Given the description of an element on the screen output the (x, y) to click on. 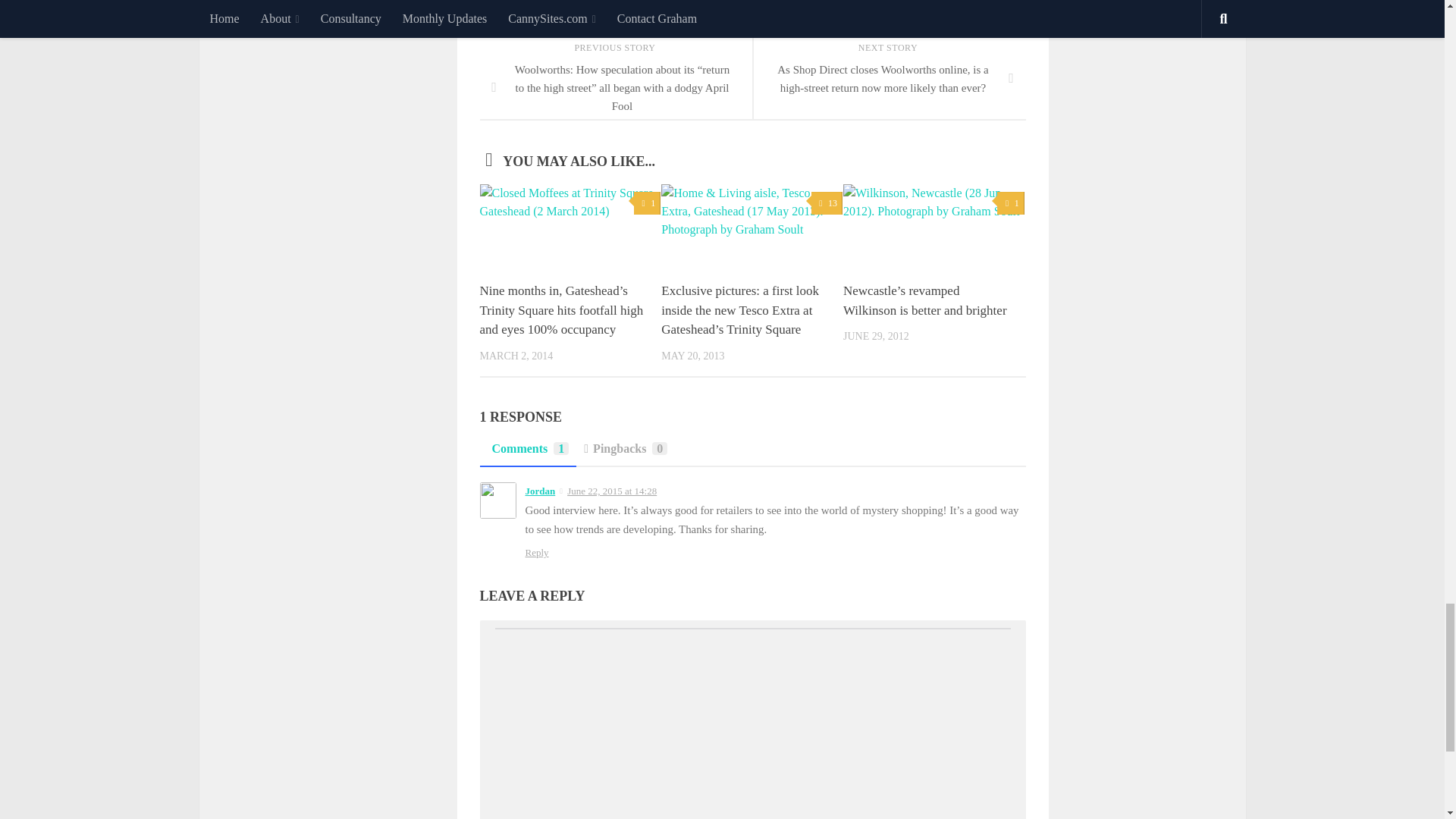
Comment Form (752, 723)
